Given the description of an element on the screen output the (x, y) to click on. 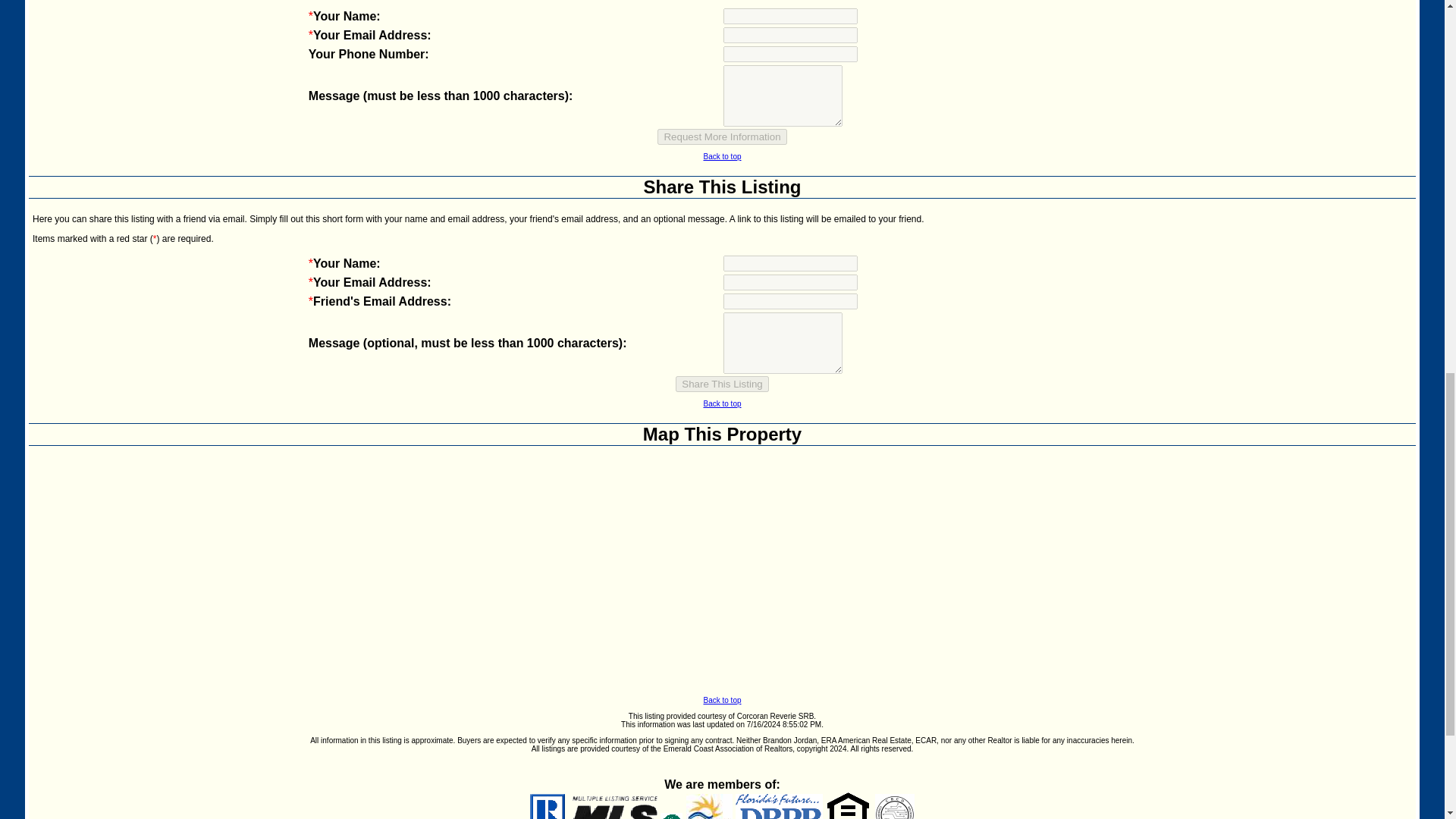
Share This Listing (721, 383)
Share This Listing (721, 383)
Request More Information (722, 136)
Share This Listing (721, 186)
Back to top (722, 156)
Back to top (722, 403)
Request More Information (722, 136)
